Given the description of an element on the screen output the (x, y) to click on. 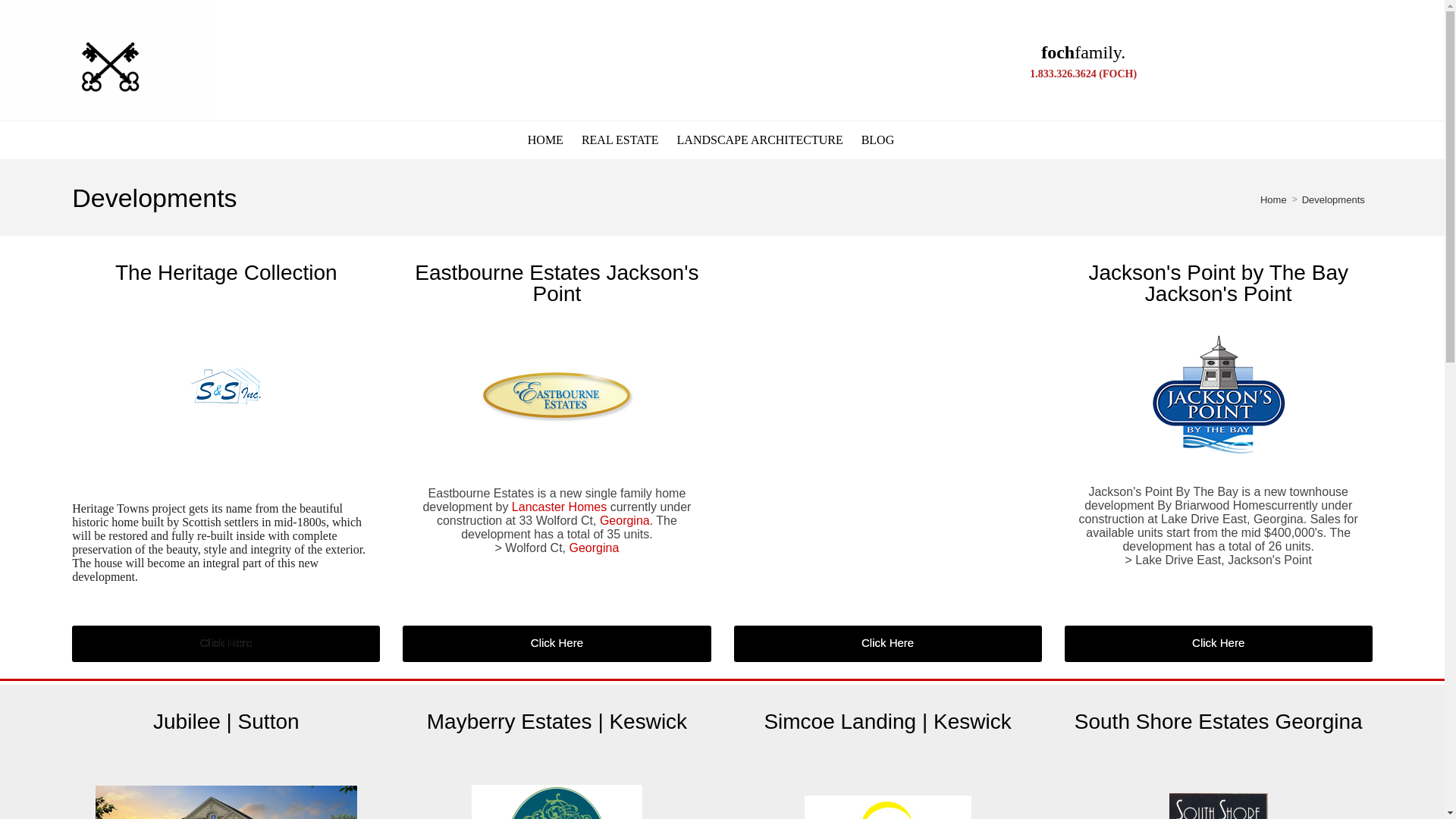
BLOG (877, 139)
Click Here (556, 642)
BLOG (877, 139)
Georgina (593, 547)
LANDSCAPE ARCHITECTURE (759, 139)
Click Here (1218, 642)
Click Here (225, 642)
HOME (545, 139)
Click Here (1218, 642)
Click Here (556, 642)
